Given the description of an element on the screen output the (x, y) to click on. 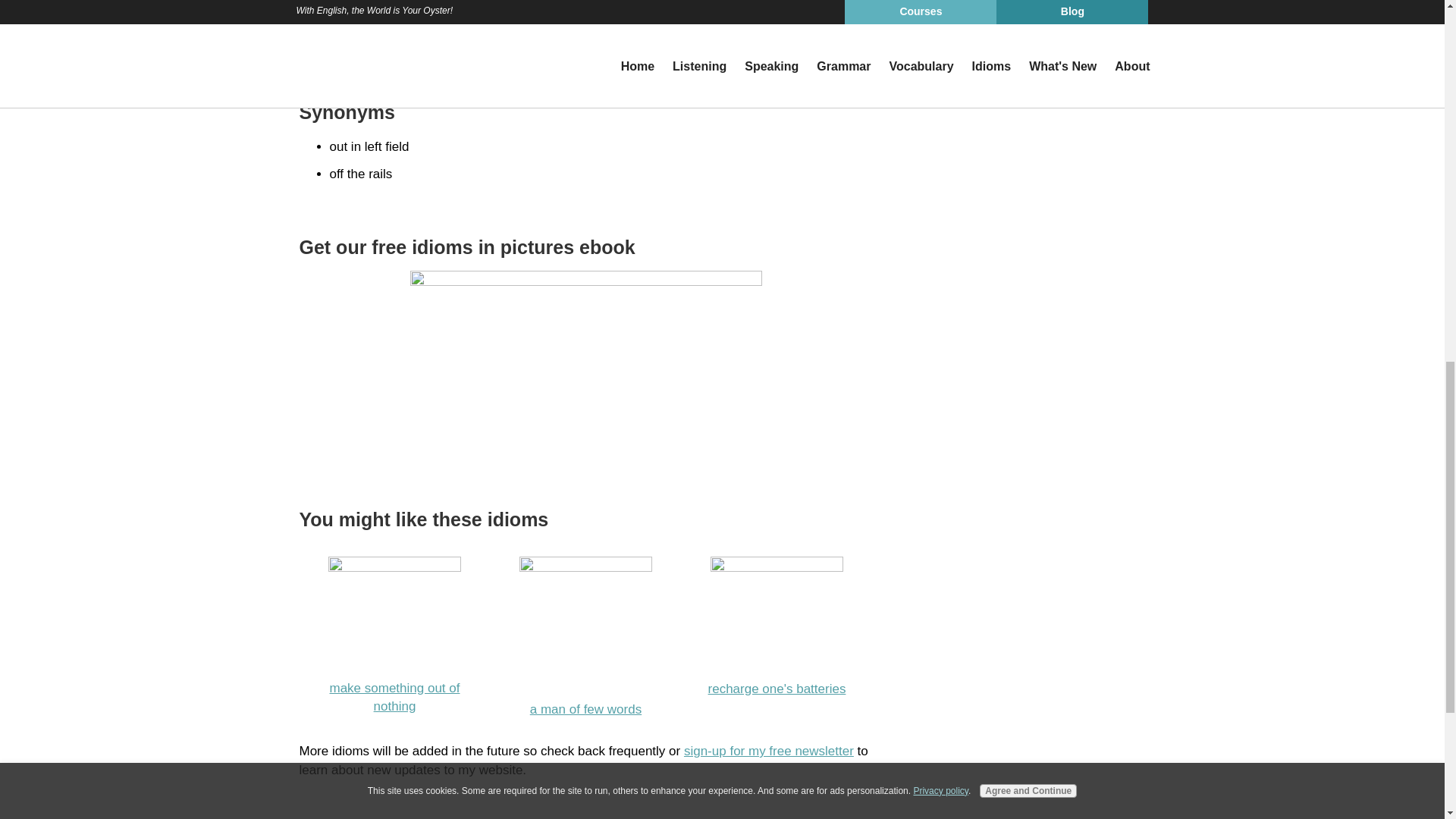
Go to Signup and receive a free idioms ebook (585, 281)
make something out of nothing (394, 697)
a man of few words (585, 708)
Off the wall (585, 62)
sign-up for my free newsletter (768, 750)
recharge one's batteries (776, 688)
